Given the description of an element on the screen output the (x, y) to click on. 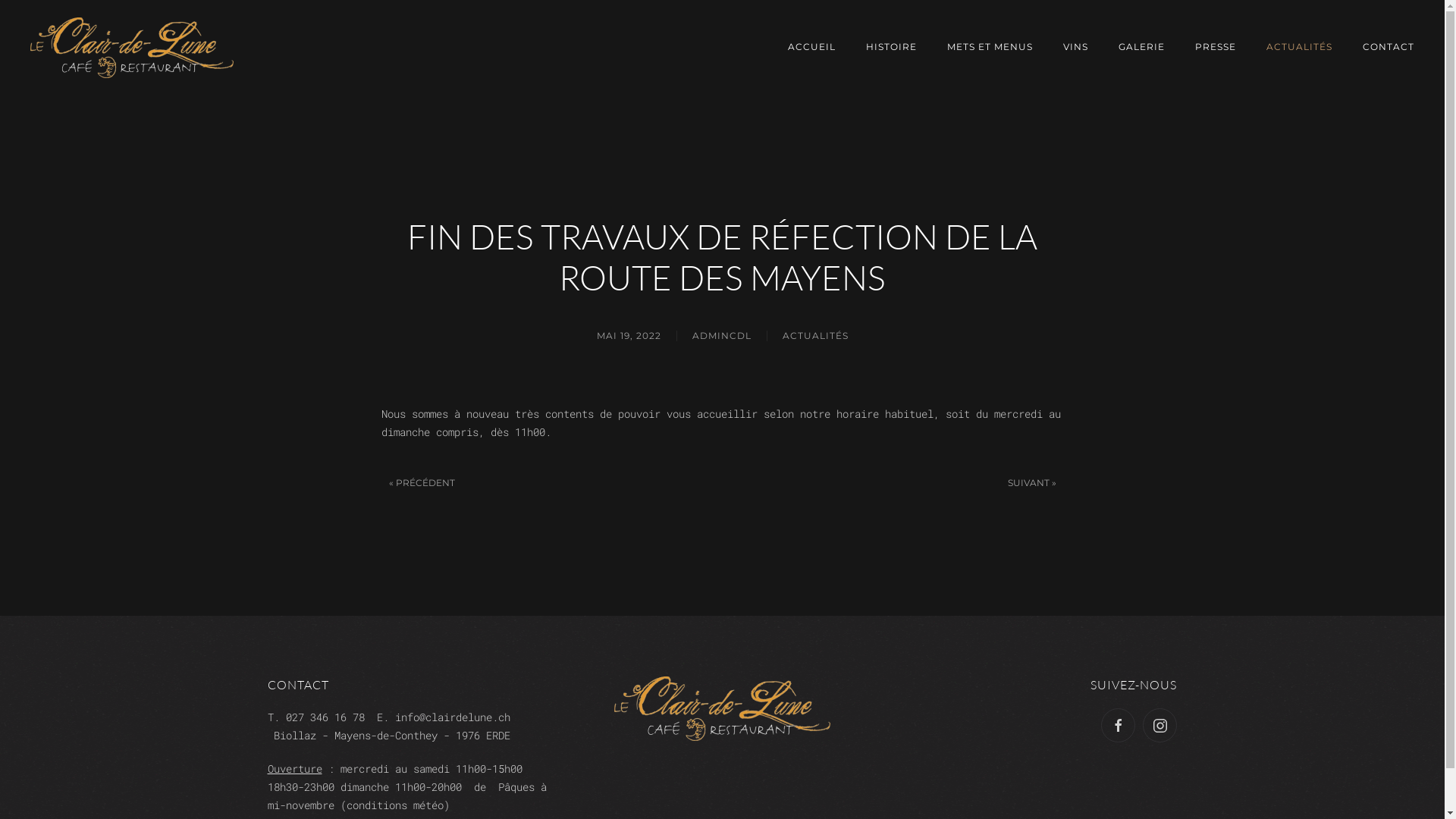
VINS Element type: text (1075, 47)
ADMINCDL Element type: text (720, 336)
PRESSE Element type: text (1215, 47)
HISTOIRE Element type: text (891, 47)
CONTACT Element type: text (1388, 47)
ACCUEIL Element type: text (811, 47)
METS ET MENUS Element type: text (989, 47)
GALERIE Element type: text (1141, 47)
